Given the description of an element on the screen output the (x, y) to click on. 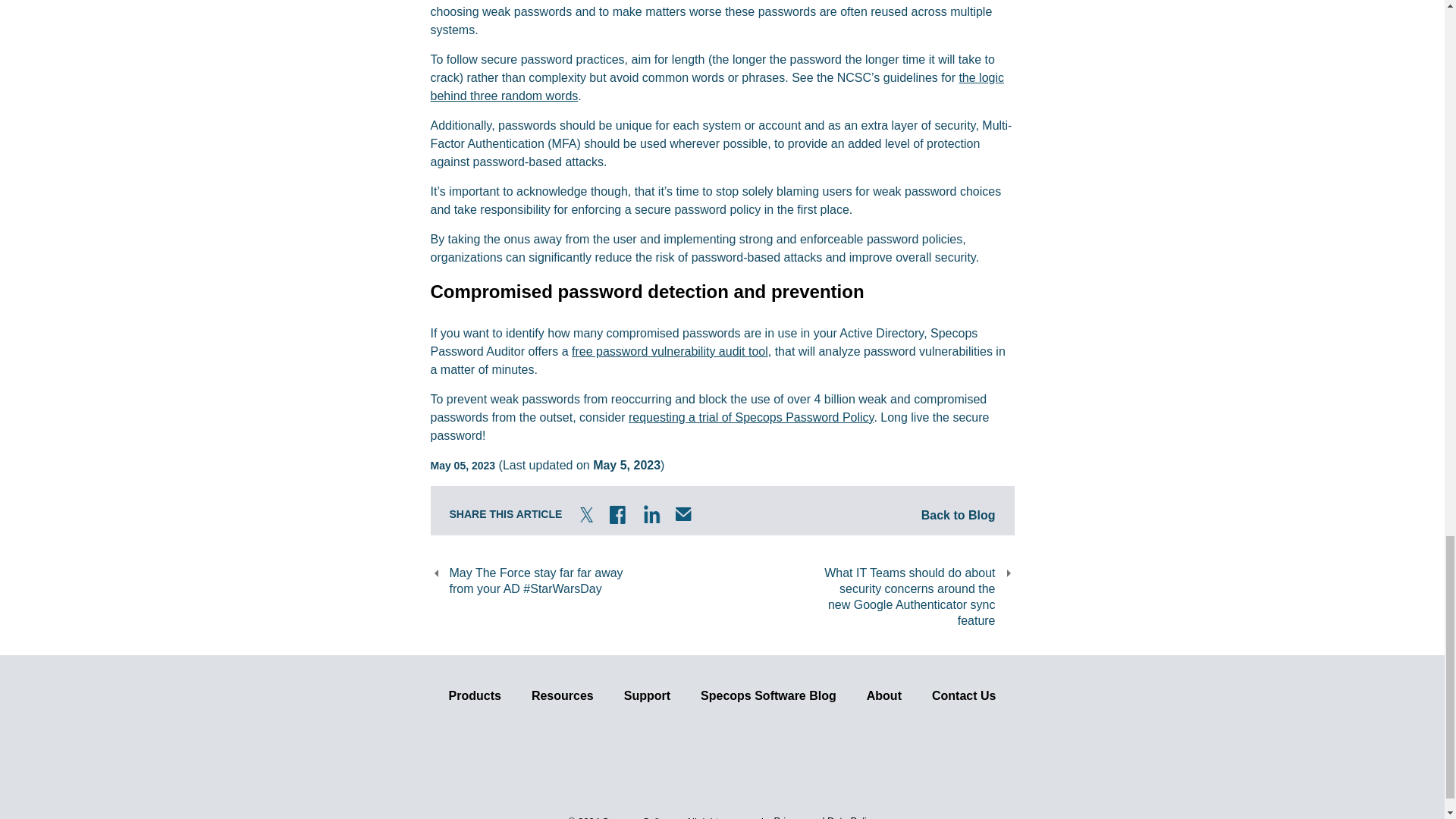
requesting a trial of Specops Password Policy (750, 417)
free password vulnerability audit tool (670, 350)
the logic behind three random words (717, 86)
Back to Blog (958, 509)
